Given the description of an element on the screen output the (x, y) to click on. 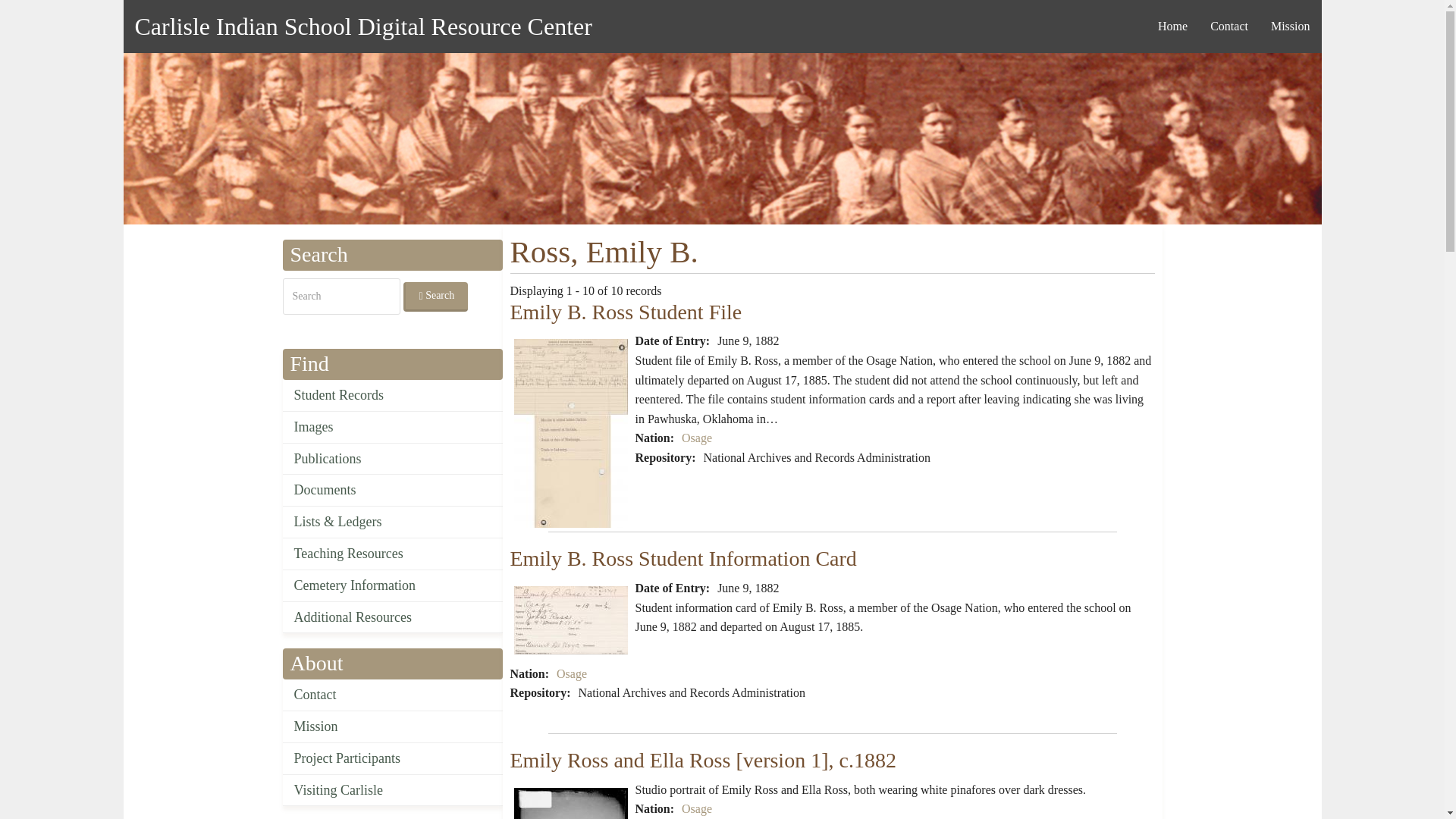
Search (435, 296)
Publications (392, 459)
Osage (696, 437)
Images (392, 427)
Emily B. Ross Student Information Card (682, 558)
Student Records (392, 395)
Additional Resources (392, 617)
Mission (392, 726)
Cemetery Information (392, 585)
Emily B. Ross Student Information Card (570, 620)
Osage (696, 808)
Home (1172, 25)
Mission (1290, 25)
Emily B. Ross Student File (625, 311)
